Given the description of an element on the screen output the (x, y) to click on. 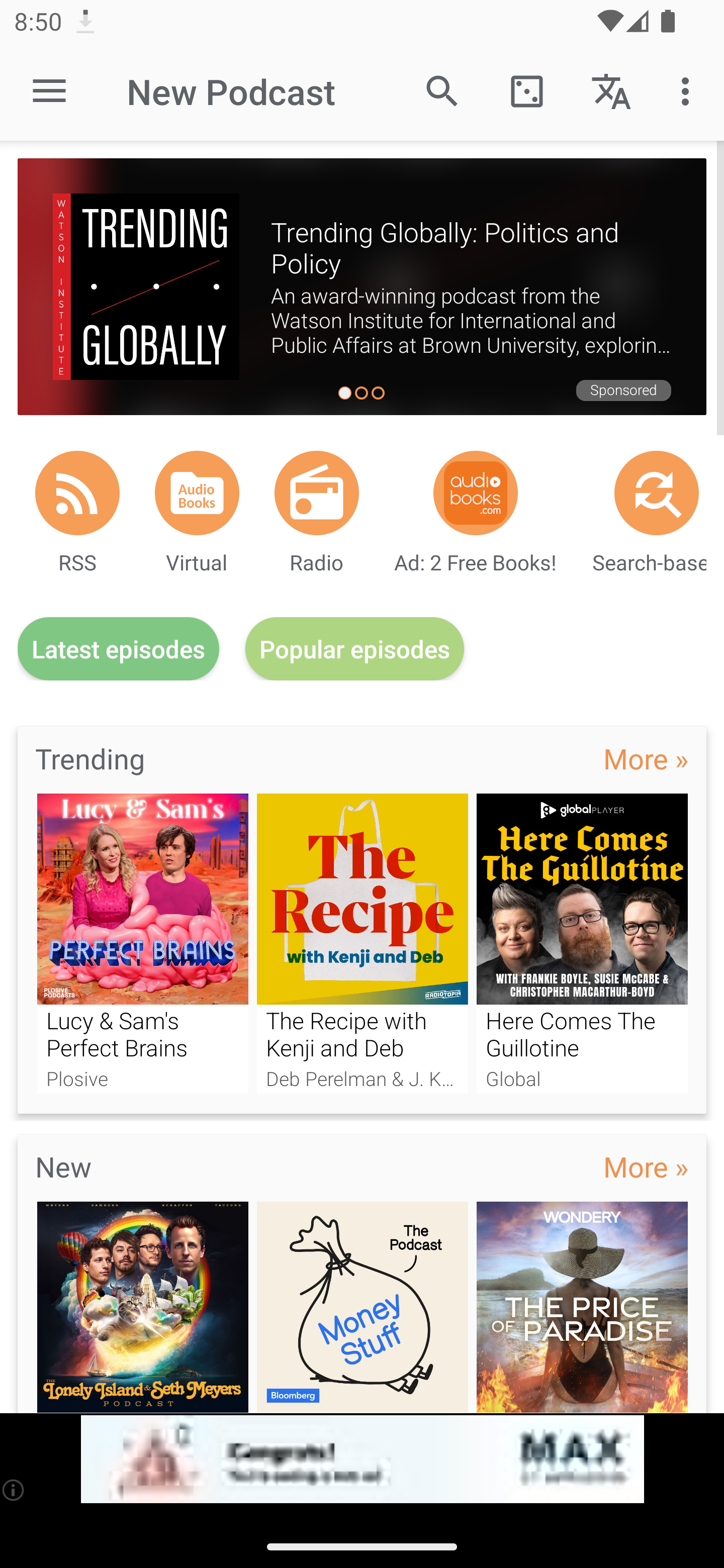
Open navigation sidebar (49, 91)
Search (442, 90)
Random pick (526, 90)
Podcast languages (611, 90)
More options (688, 90)
RSS (77, 492)
Virtual (196, 492)
Radio (316, 492)
Search-based (656, 492)
Latest episodes (118, 648)
Popular episodes (354, 648)
More » (645, 757)
Lucy & Sam's Perfect Brains Plosive (142, 942)
Here Comes The Guillotine Global (581, 942)
More » (645, 1166)
The Lonely Island and Seth Meyers Podcast (142, 1306)
Money Stuff: The Podcast (362, 1306)
The Price of Paradise (581, 1306)
app-monetization (362, 1459)
(i) (14, 1489)
